Given the description of an element on the screen output the (x, y) to click on. 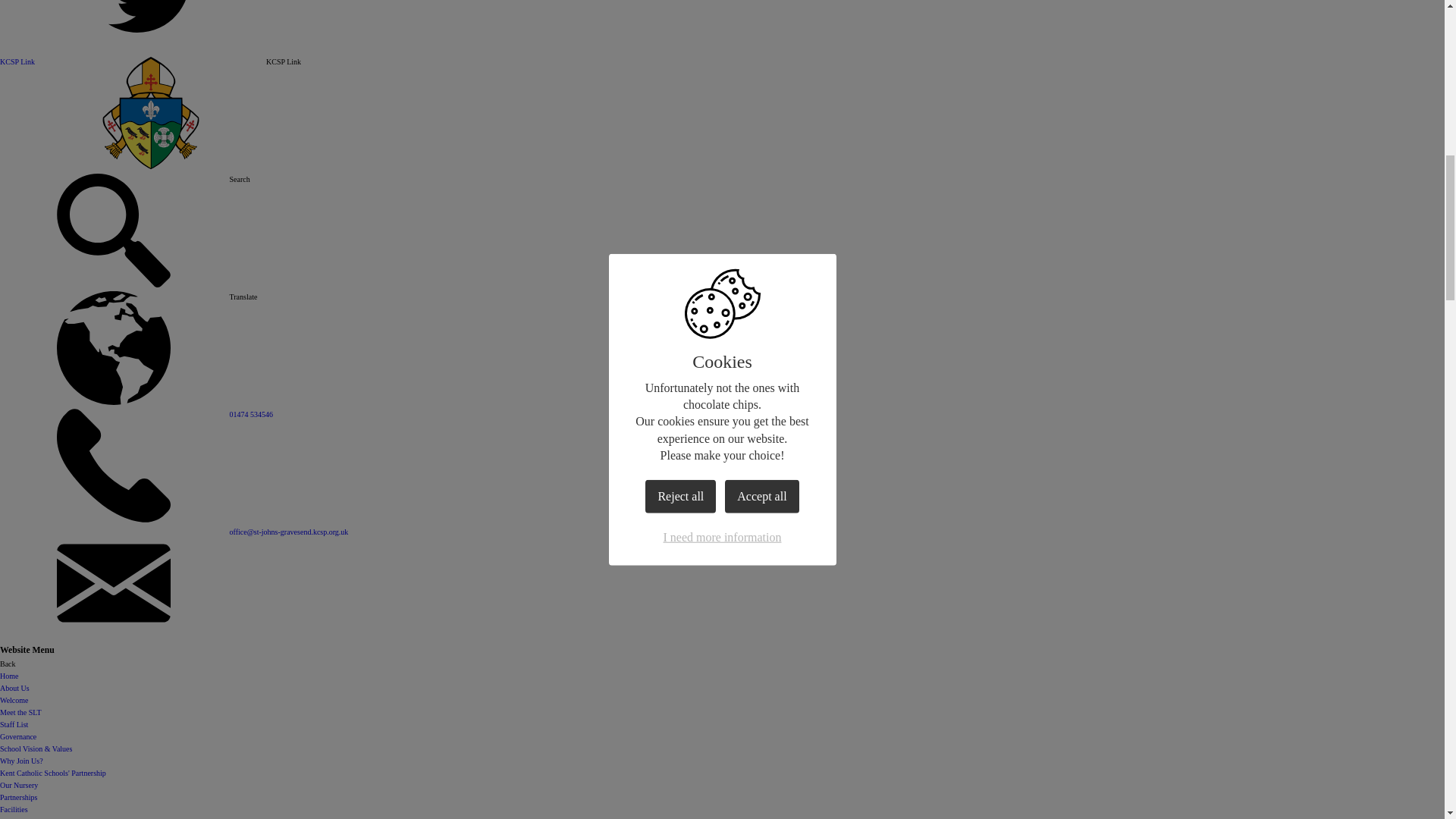
Why Join Us? (21, 760)
KCSP Link (17, 61)
Staff List (13, 724)
Facilities (13, 809)
Welcome (14, 700)
Kent Catholic Schools' Partnership (53, 773)
Partnerships (18, 797)
About Us (14, 687)
01474 534546 (250, 414)
Vacancies (15, 818)
Our Nursery (18, 785)
Meet the SLT (21, 712)
Governance (18, 736)
Home (8, 675)
